Given the description of an element on the screen output the (x, y) to click on. 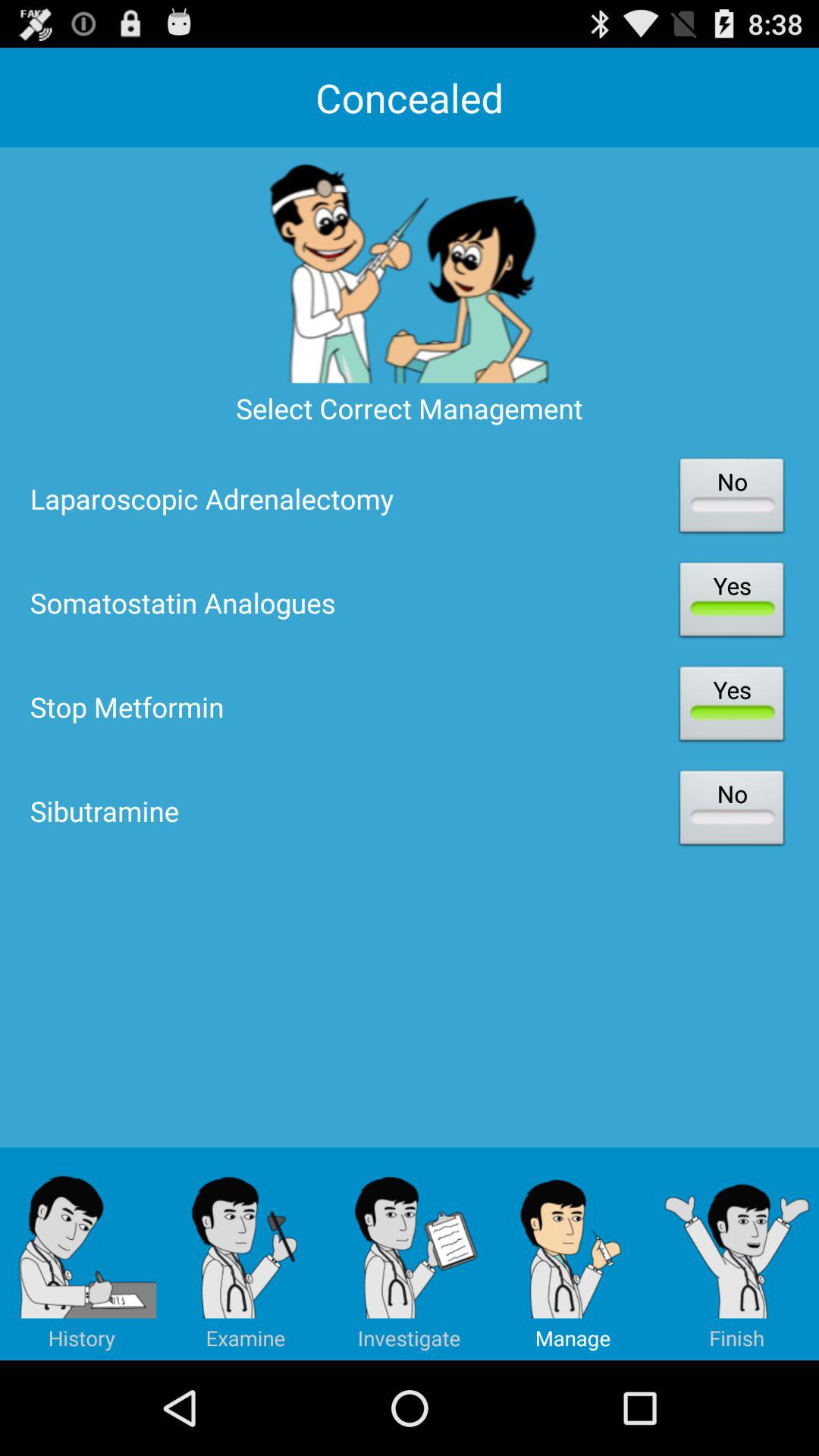
select the app below sibutramine app (737, 1253)
